Given the description of an element on the screen output the (x, y) to click on. 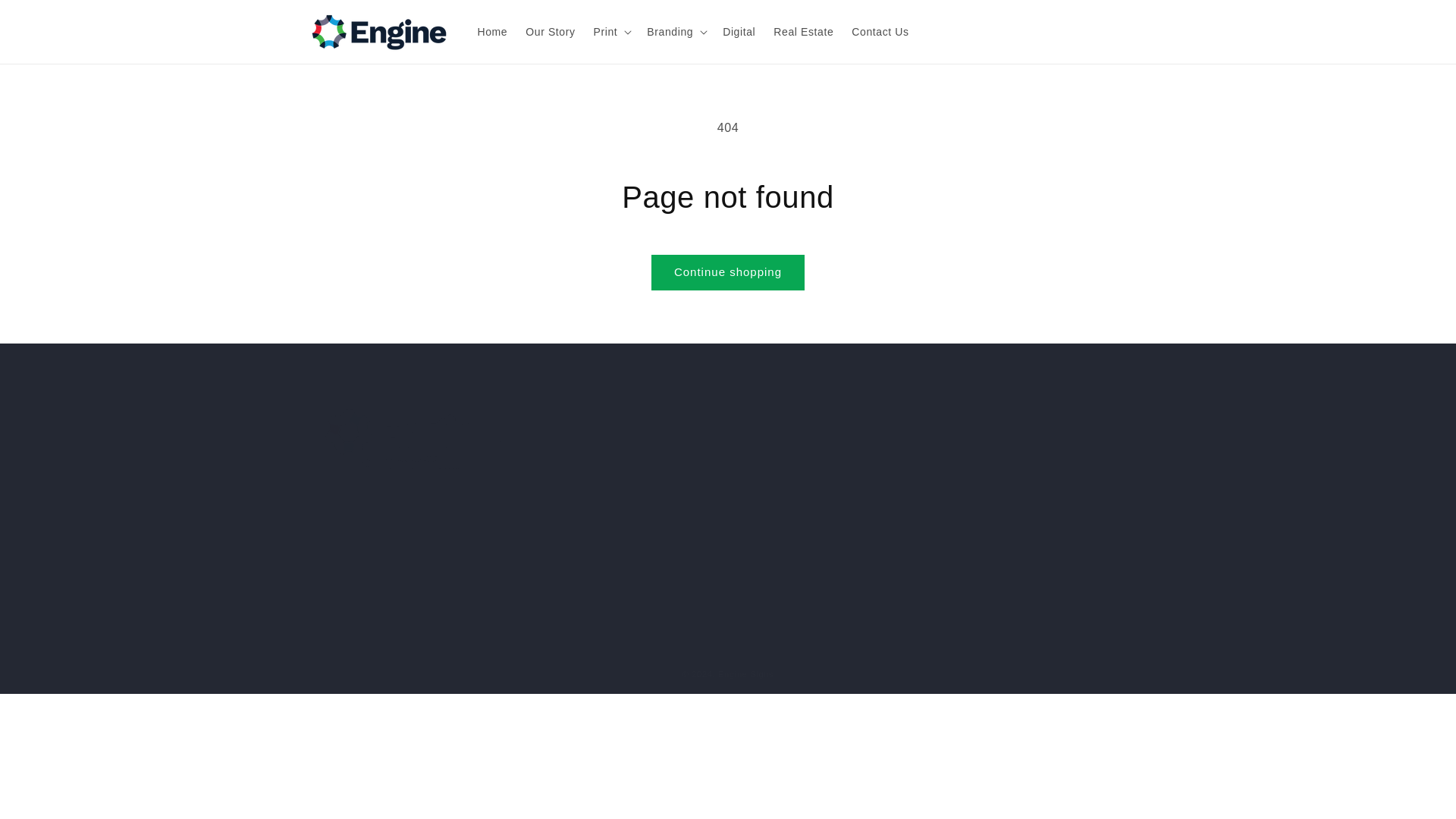
Our Story (549, 31)
Home (492, 31)
Skip to content (45, 17)
Digital (738, 31)
Contact Us (832, 505)
Real Estate (880, 31)
